Given the description of an element on the screen output the (x, y) to click on. 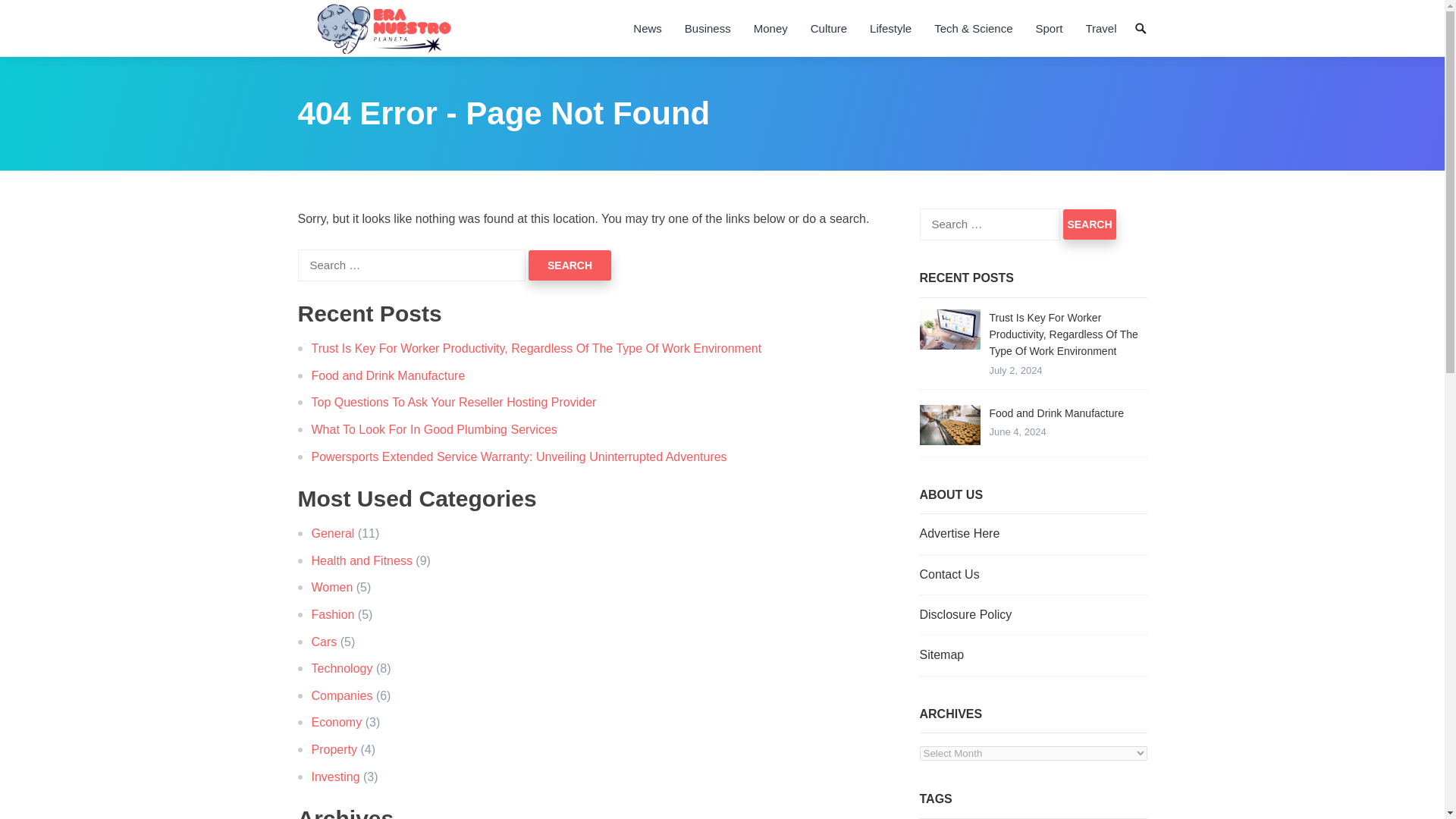
Search (1089, 224)
Search (569, 265)
Culture (829, 28)
Money (770, 28)
Business (707, 28)
Search (1089, 224)
Food and Drink Manufacture (948, 424)
Lifestyle (891, 28)
News (646, 28)
